Given the description of an element on the screen output the (x, y) to click on. 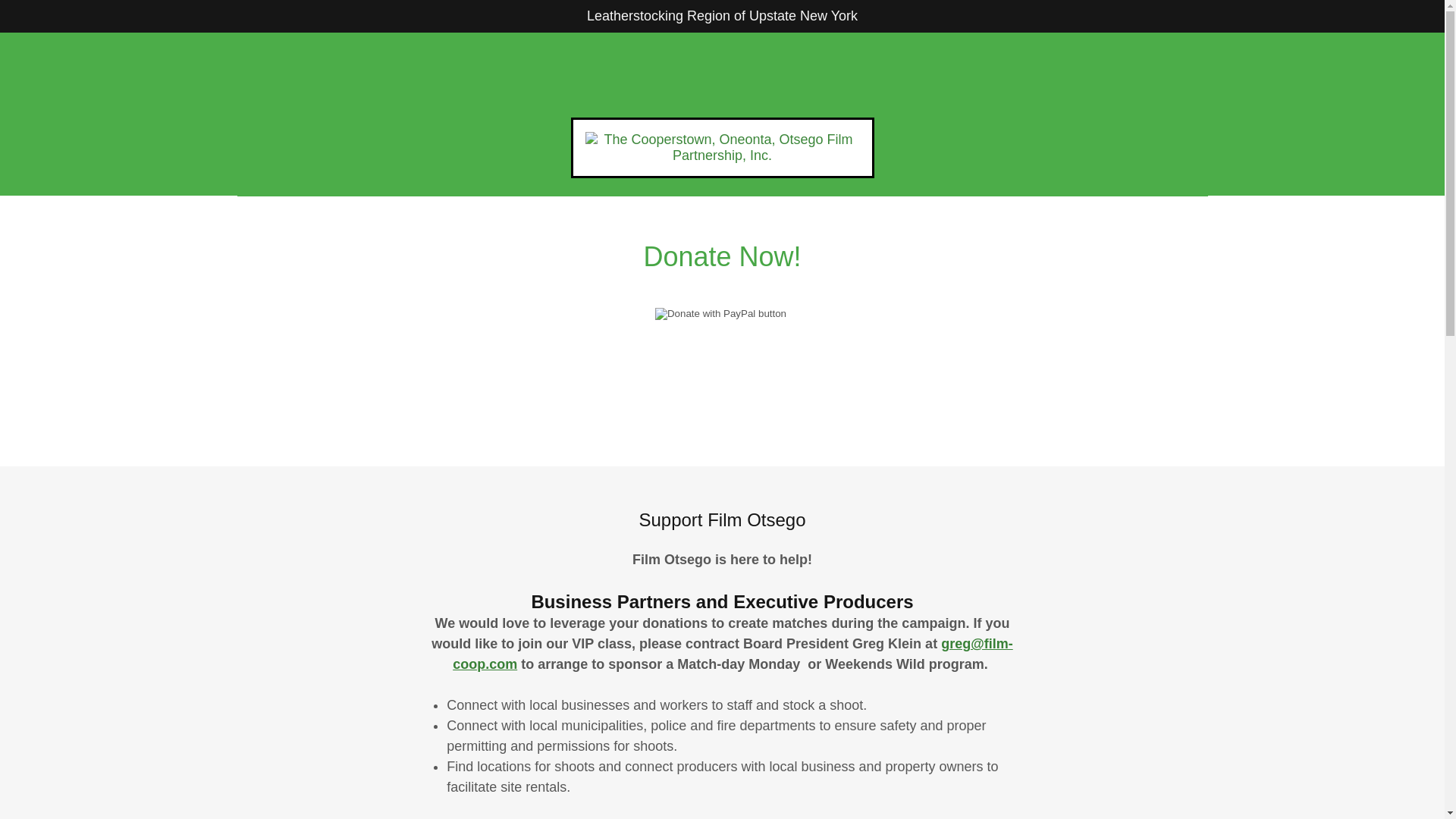
The Cooperstown, Oneonta, Otsego Film Partnership, Inc. (722, 146)
